Given the description of an element on the screen output the (x, y) to click on. 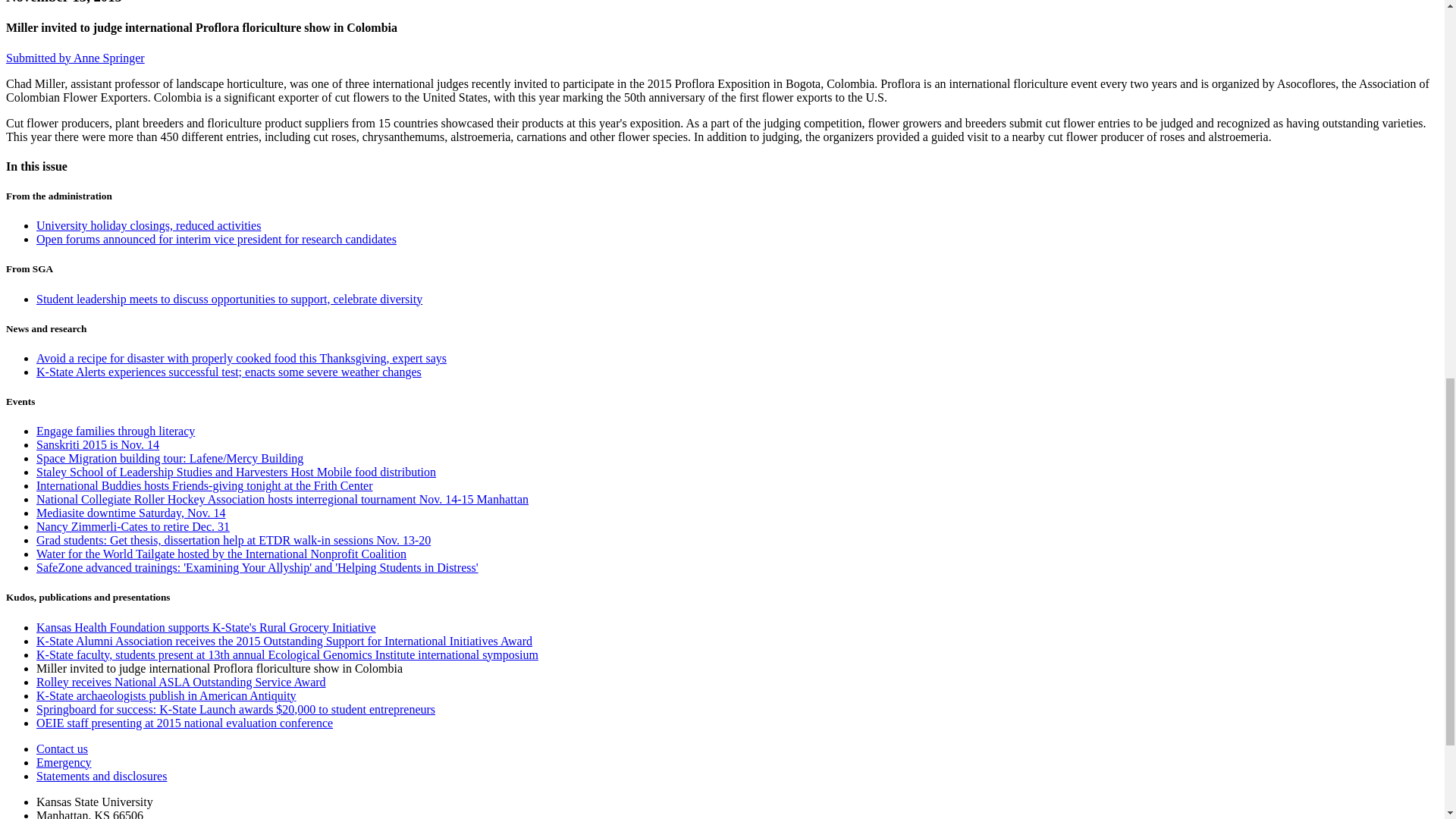
University holiday closings, reduced activities (148, 225)
Engage families through literacy (115, 431)
